Given the description of an element on the screen output the (x, y) to click on. 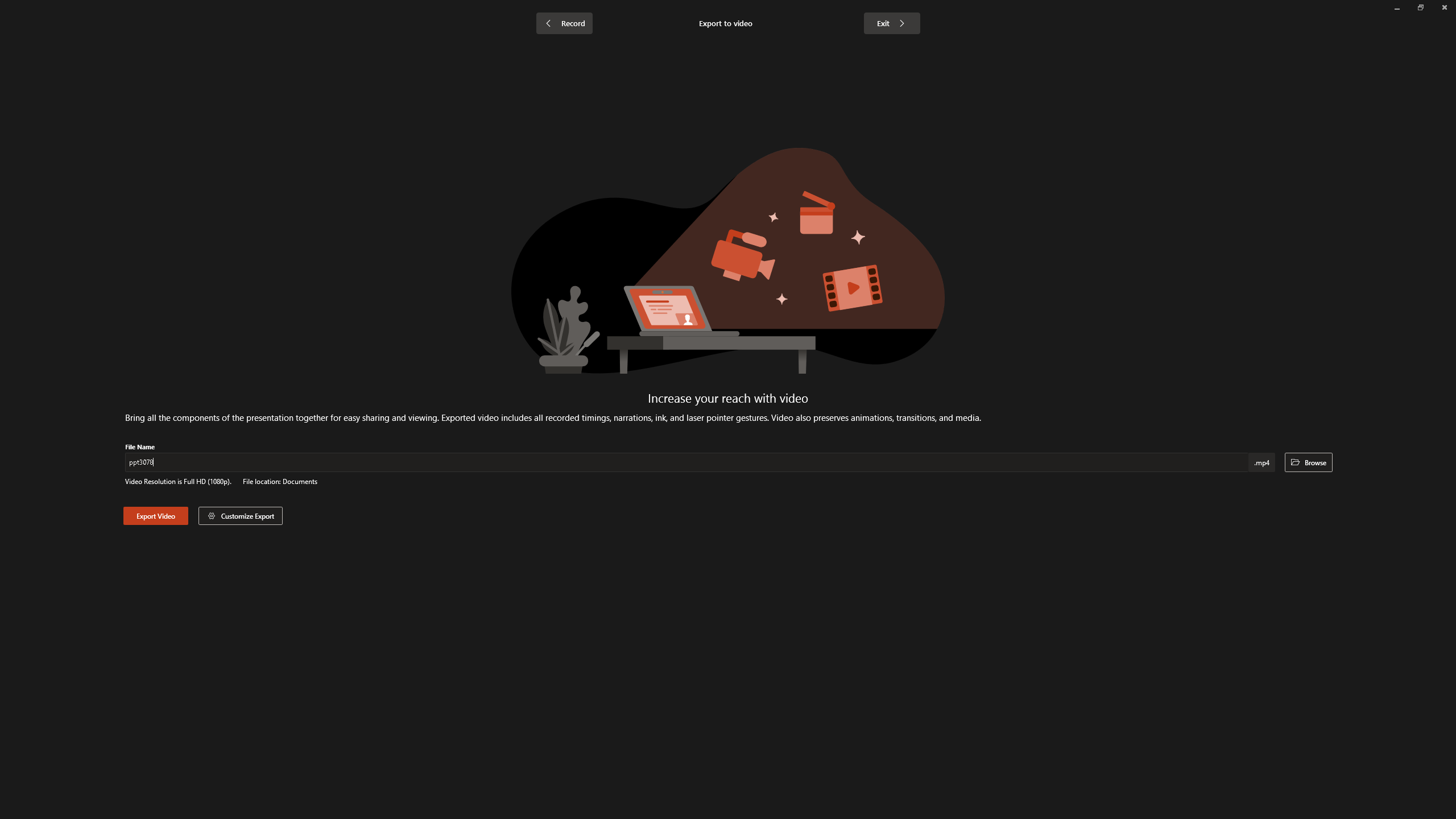
Zoom 140% (1430, 790)
Clear Recording (234, 58)
Audio (193, 58)
Export to Video (332, 58)
